Given the description of an element on the screen output the (x, y) to click on. 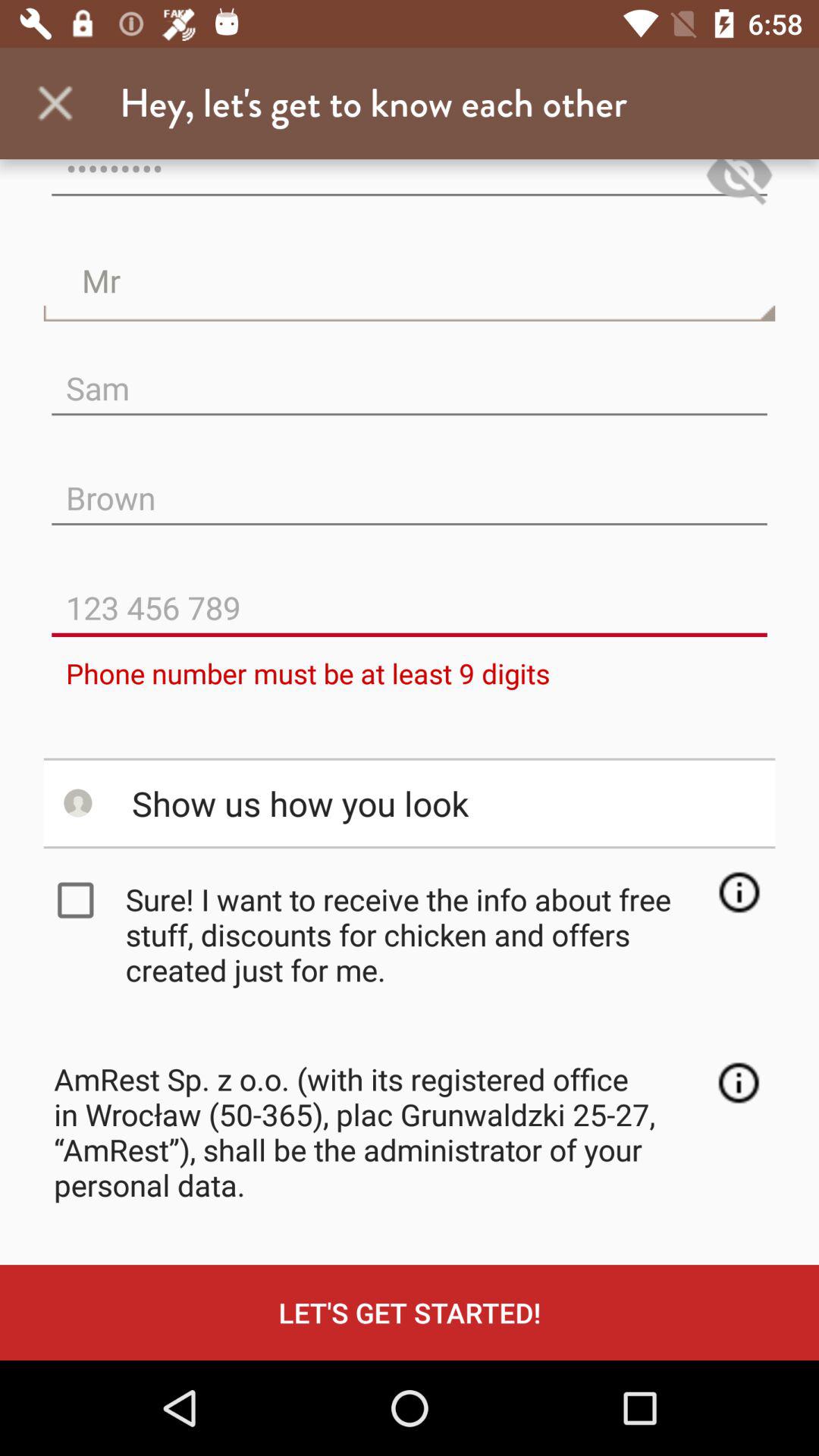
scroll to the crowd3116 item (409, 185)
